Given the description of an element on the screen output the (x, y) to click on. 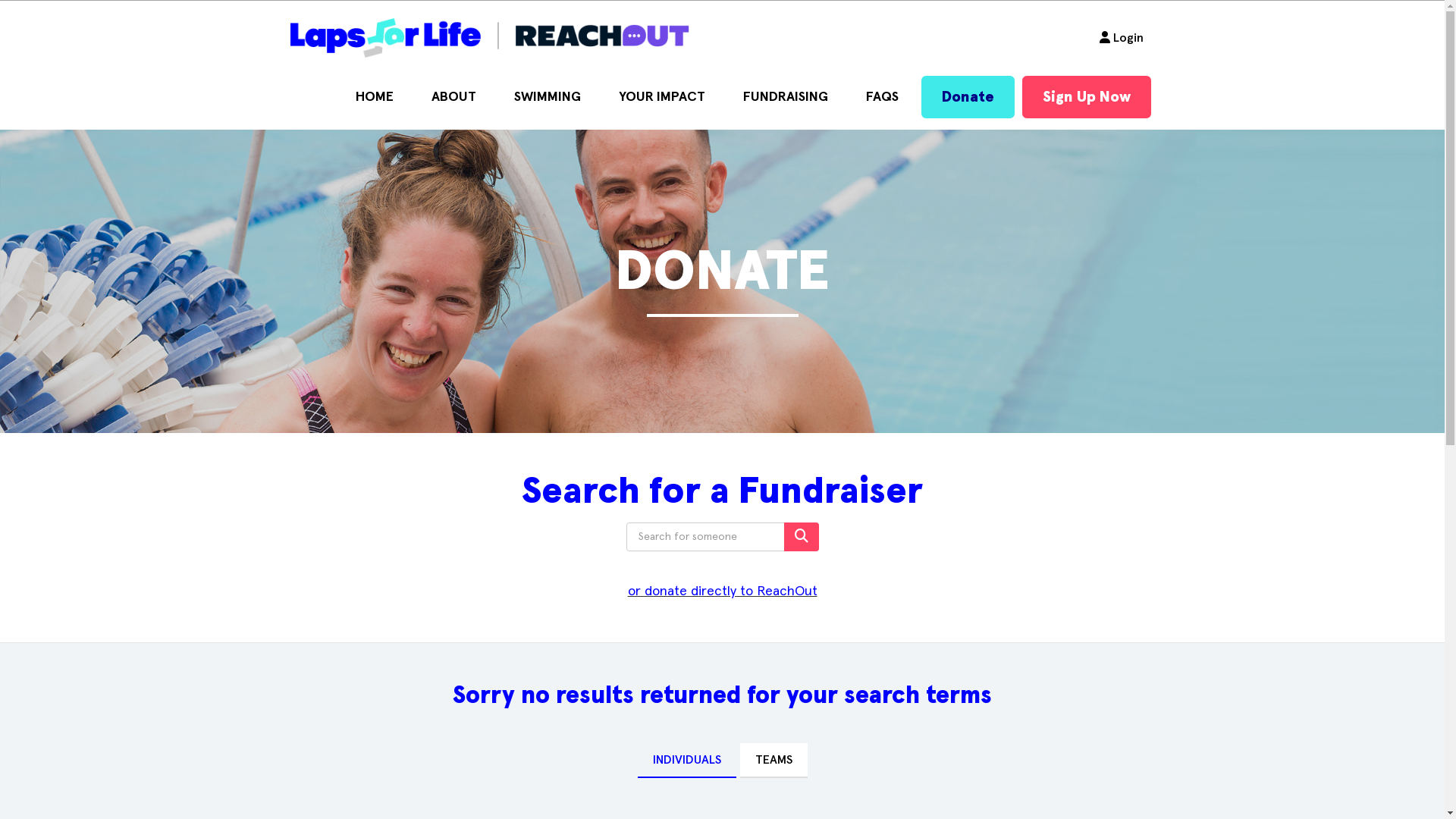
SWIMMING Element type: text (546, 97)
HOME Element type: text (374, 97)
TEAMS Element type: text (773, 760)
INDIVIDUALS Element type: text (686, 760)
FUNDRAISING Element type: text (784, 97)
Sign Up Now Element type: text (1086, 96)
FAQS Element type: text (881, 97)
ABOUT Element type: text (453, 97)
YOUR IMPACT Element type: text (661, 97)
or donate directly to ReachOut Element type: text (722, 601)
Donate Element type: text (966, 96)
Login Element type: text (1120, 37)
